Given the description of an element on the screen output the (x, y) to click on. 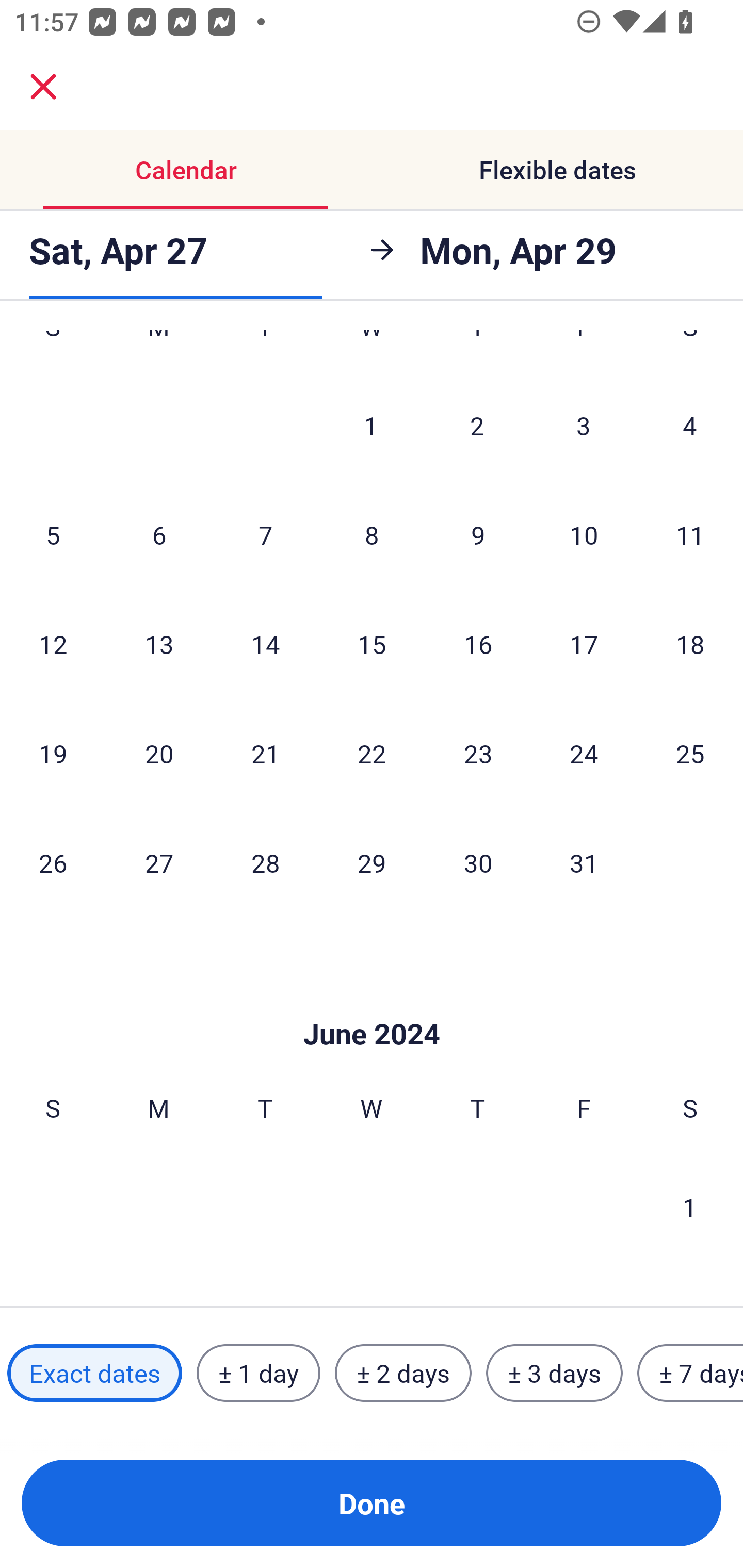
close. (43, 86)
Flexible dates (557, 170)
1 Wednesday, May 1, 2024 (371, 425)
2 Thursday, May 2, 2024 (477, 425)
3 Friday, May 3, 2024 (583, 425)
4 Saturday, May 4, 2024 (689, 425)
5 Sunday, May 5, 2024 (53, 534)
6 Monday, May 6, 2024 (159, 534)
7 Tuesday, May 7, 2024 (265, 534)
8 Wednesday, May 8, 2024 (371, 534)
9 Thursday, May 9, 2024 (477, 534)
10 Friday, May 10, 2024 (584, 534)
11 Saturday, May 11, 2024 (690, 534)
12 Sunday, May 12, 2024 (53, 643)
13 Monday, May 13, 2024 (159, 643)
14 Tuesday, May 14, 2024 (265, 643)
15 Wednesday, May 15, 2024 (371, 643)
16 Thursday, May 16, 2024 (477, 643)
17 Friday, May 17, 2024 (584, 643)
18 Saturday, May 18, 2024 (690, 643)
19 Sunday, May 19, 2024 (53, 752)
20 Monday, May 20, 2024 (159, 752)
21 Tuesday, May 21, 2024 (265, 752)
22 Wednesday, May 22, 2024 (371, 752)
23 Thursday, May 23, 2024 (477, 752)
24 Friday, May 24, 2024 (584, 752)
25 Saturday, May 25, 2024 (690, 752)
26 Sunday, May 26, 2024 (53, 862)
27 Monday, May 27, 2024 (159, 862)
28 Tuesday, May 28, 2024 (265, 862)
29 Wednesday, May 29, 2024 (371, 862)
30 Thursday, May 30, 2024 (477, 862)
31 Friday, May 31, 2024 (584, 862)
Skip to Done (371, 1002)
1 Saturday, June 1, 2024 (689, 1206)
Exact dates (94, 1372)
± 1 day (258, 1372)
± 2 days (403, 1372)
± 3 days (553, 1372)
± 7 days (690, 1372)
Done (371, 1502)
